Given the description of an element on the screen output the (x, y) to click on. 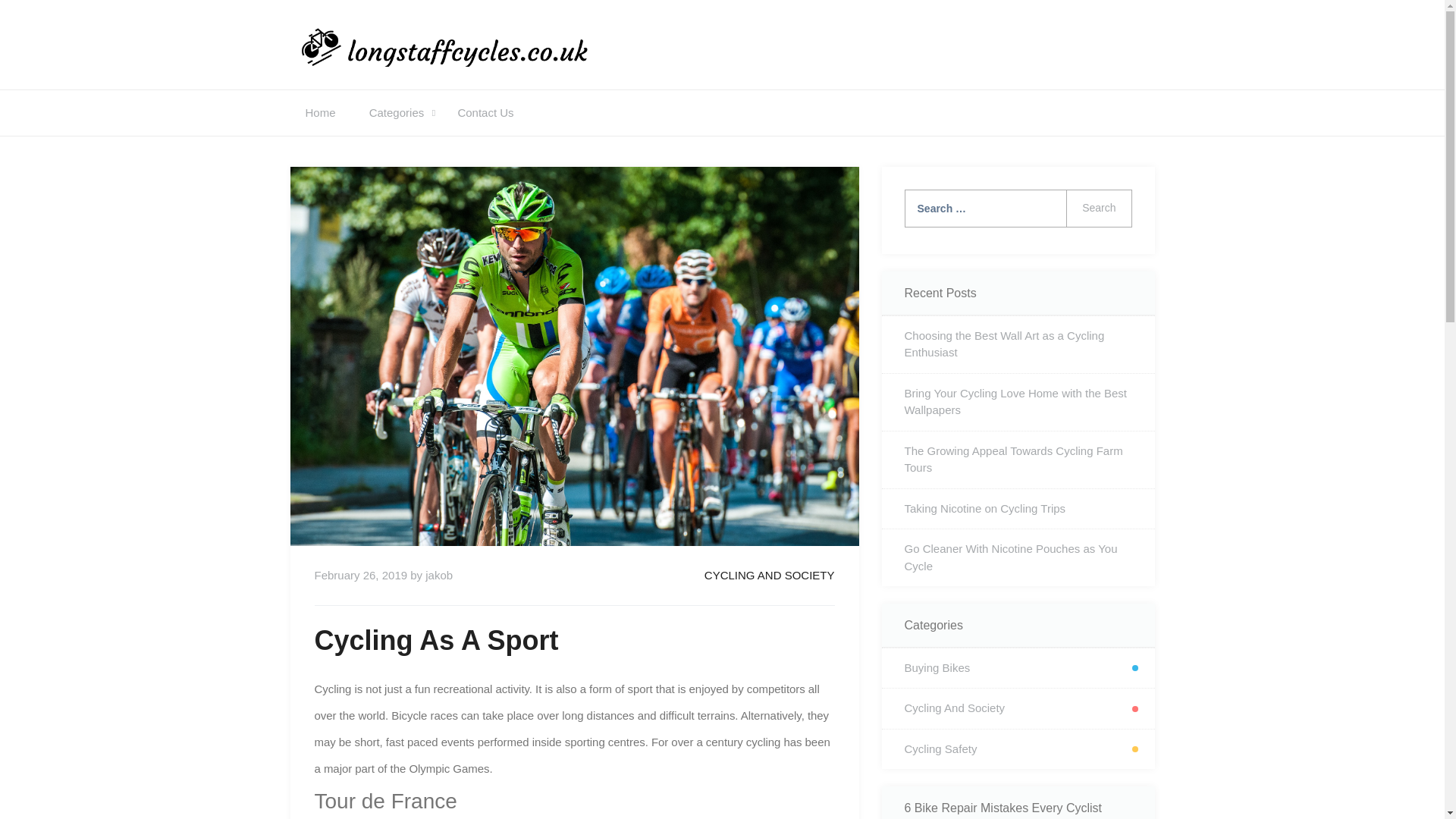
Search (1098, 208)
Cycling Safety (1018, 749)
The Growing Appeal Towards Cycling Farm Tours (1018, 459)
February 26, 2019 (360, 574)
Cycling And Society (1018, 708)
Search (1098, 208)
Choosing the Best Wall Art as a Cycling Enthusiast (1018, 344)
Taking Nicotine on Cycling Trips (1018, 508)
Categories (396, 112)
CYCLING AND SOCIETY (769, 574)
Buying Bikes (1018, 668)
Search (1098, 208)
Bring Your Cycling Love Home with the Best Wallpapers (1018, 401)
Go Cleaner With Nicotine Pouches as You Cycle (1018, 557)
Post Single (769, 574)
